Given the description of an element on the screen output the (x, y) to click on. 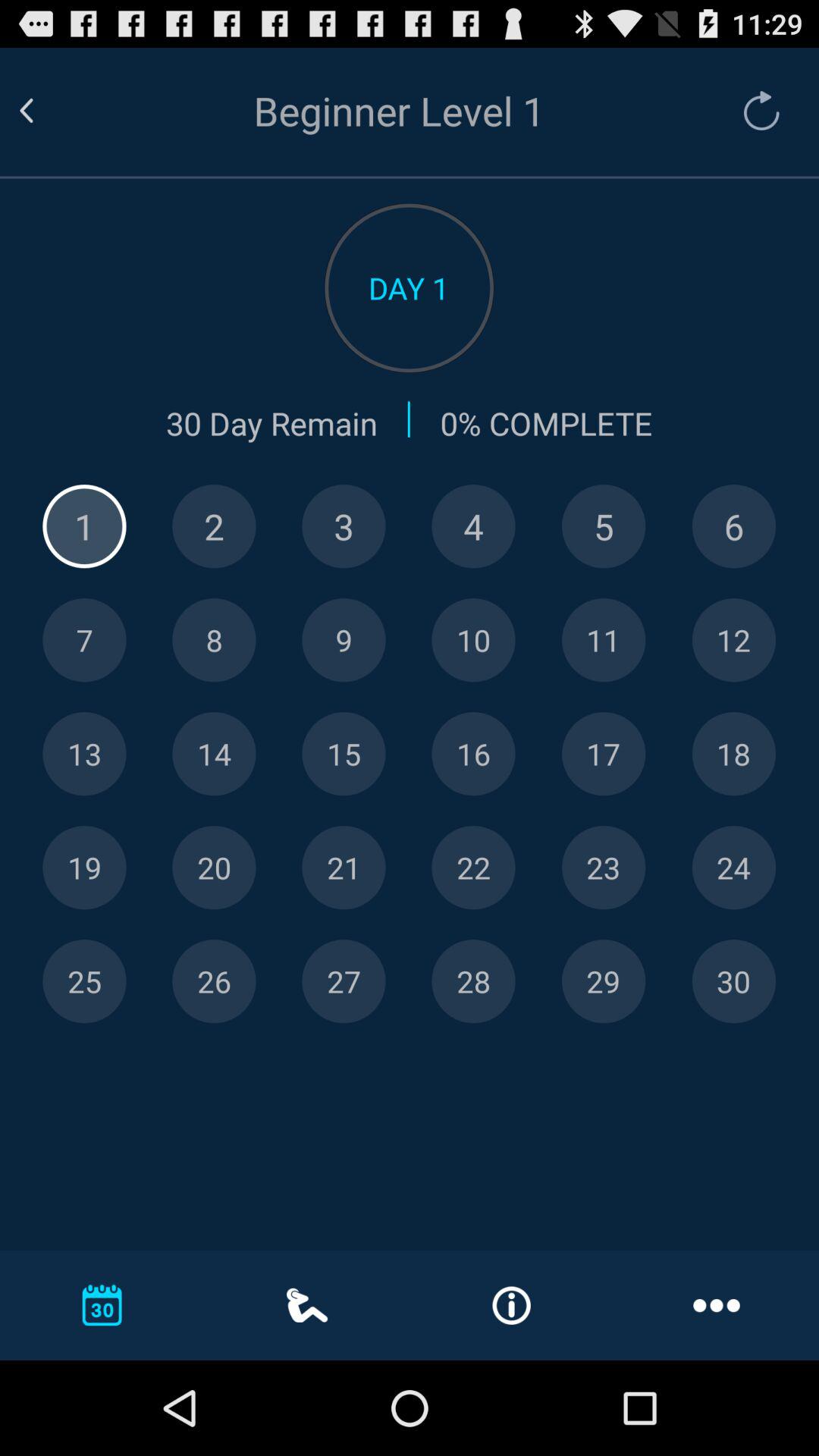
select day 13 (84, 753)
